Given the description of an element on the screen output the (x, y) to click on. 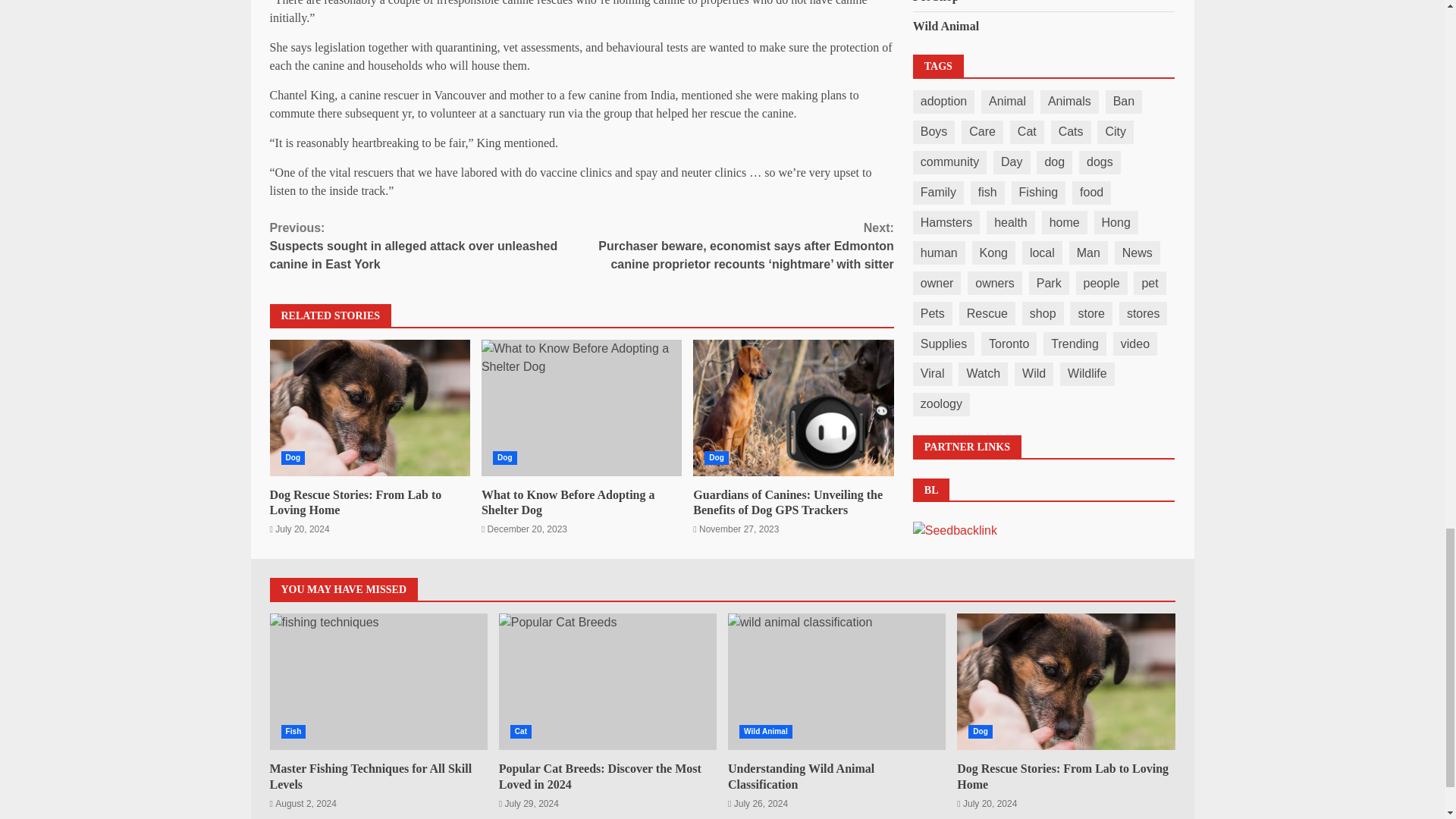
What to Know Before Adopting a Shelter Dog (581, 407)
fishing techniques (378, 681)
What to Know Before Adopting a Shelter Dog (581, 407)
wild animal classification (836, 681)
Dog (1065, 681)
Dog (716, 458)
What to Know Before Adopting a Shelter Dog (568, 502)
Dog Rescue Stories: From Lab to Loving Home (369, 407)
